Given the description of an element on the screen output the (x, y) to click on. 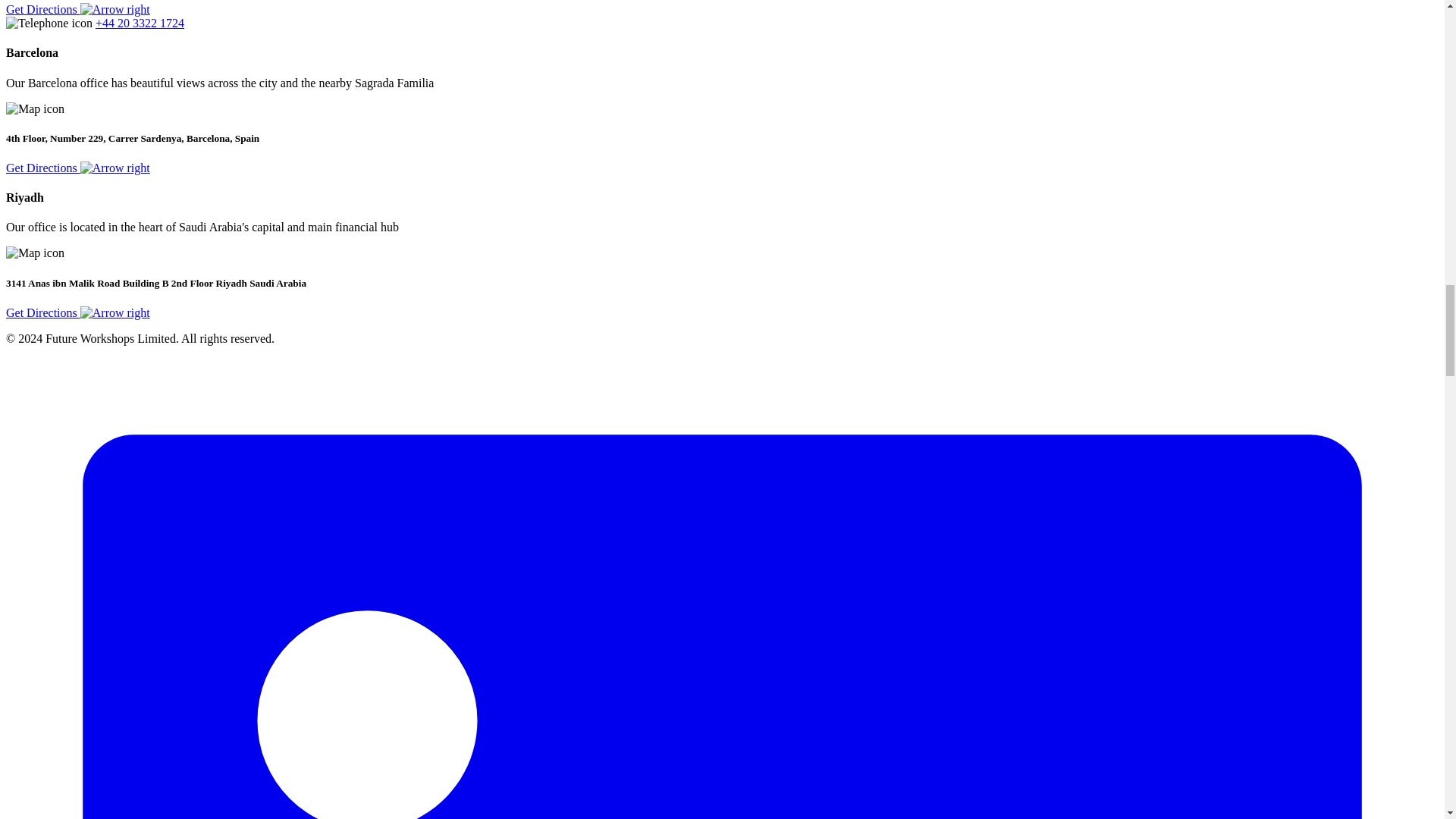
Get Directions (77, 9)
Get Directions (77, 312)
Get Directions (77, 167)
